Given the description of an element on the screen output the (x, y) to click on. 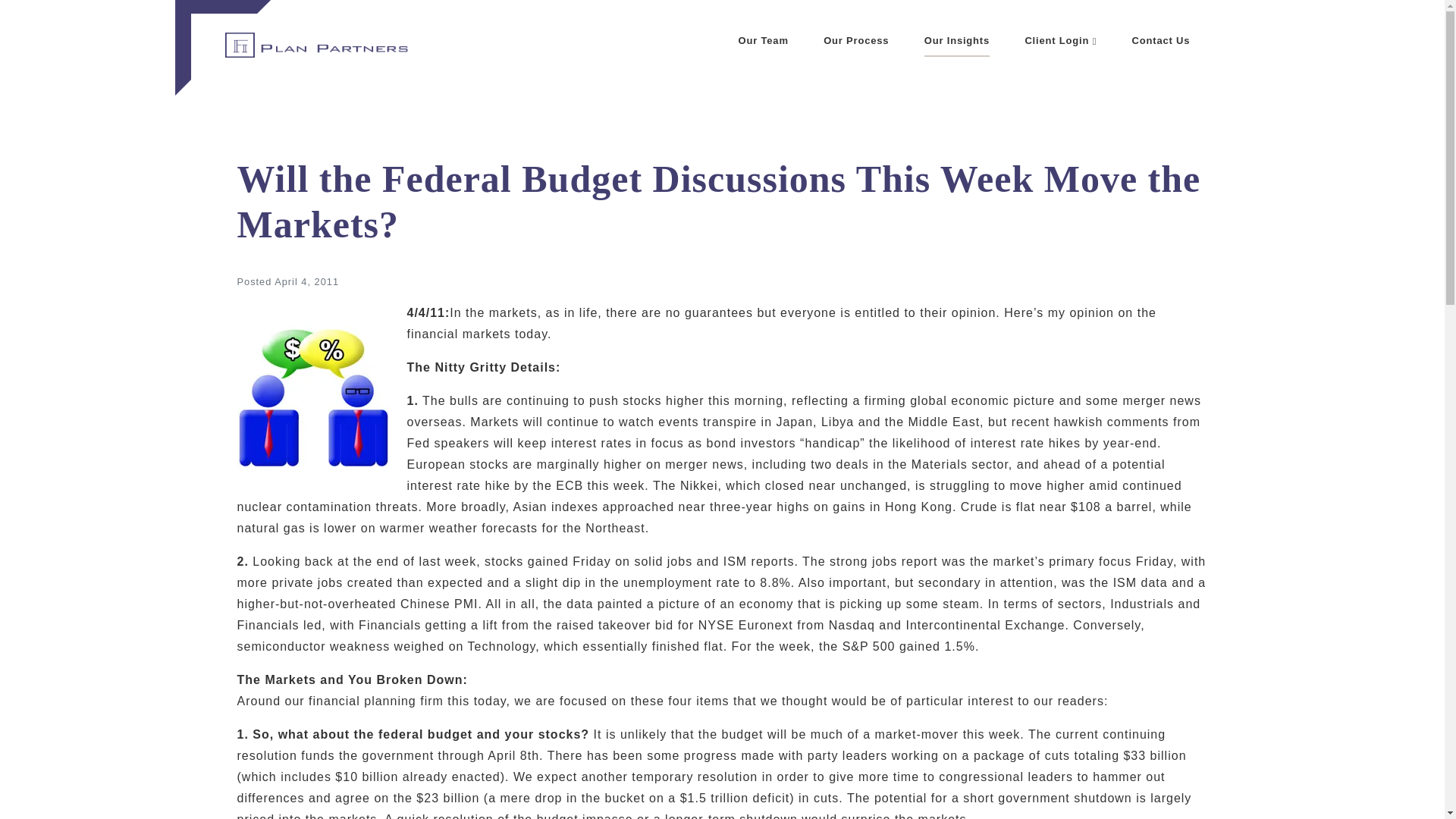
discussion (311, 396)
Contact Us (1161, 41)
Client Login (1060, 41)
Our Insights (957, 41)
Our Process (856, 41)
Fi Plan Partners Homepage (303, 40)
Our Team (763, 41)
